Given the description of an element on the screen output the (x, y) to click on. 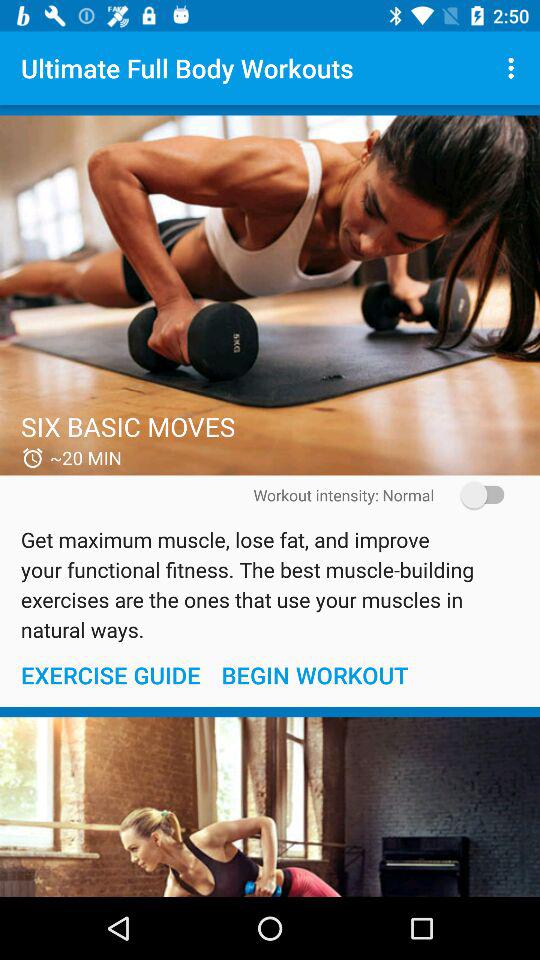
click the item to the left of begin workout icon (110, 674)
